Given the description of an element on the screen output the (x, y) to click on. 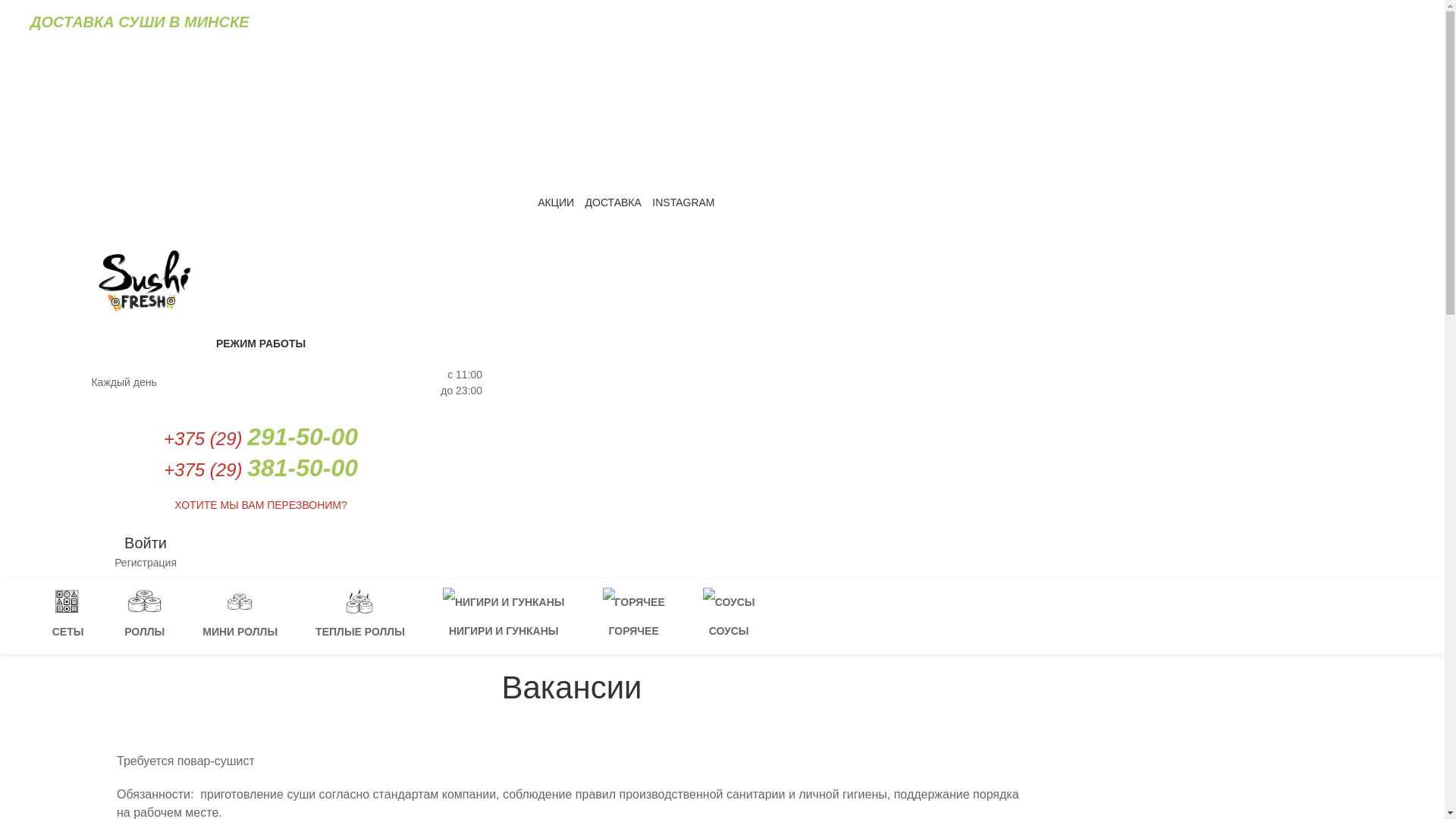
INSTAGRAM Element type: text (683, 202)
